Given the description of an element on the screen output the (x, y) to click on. 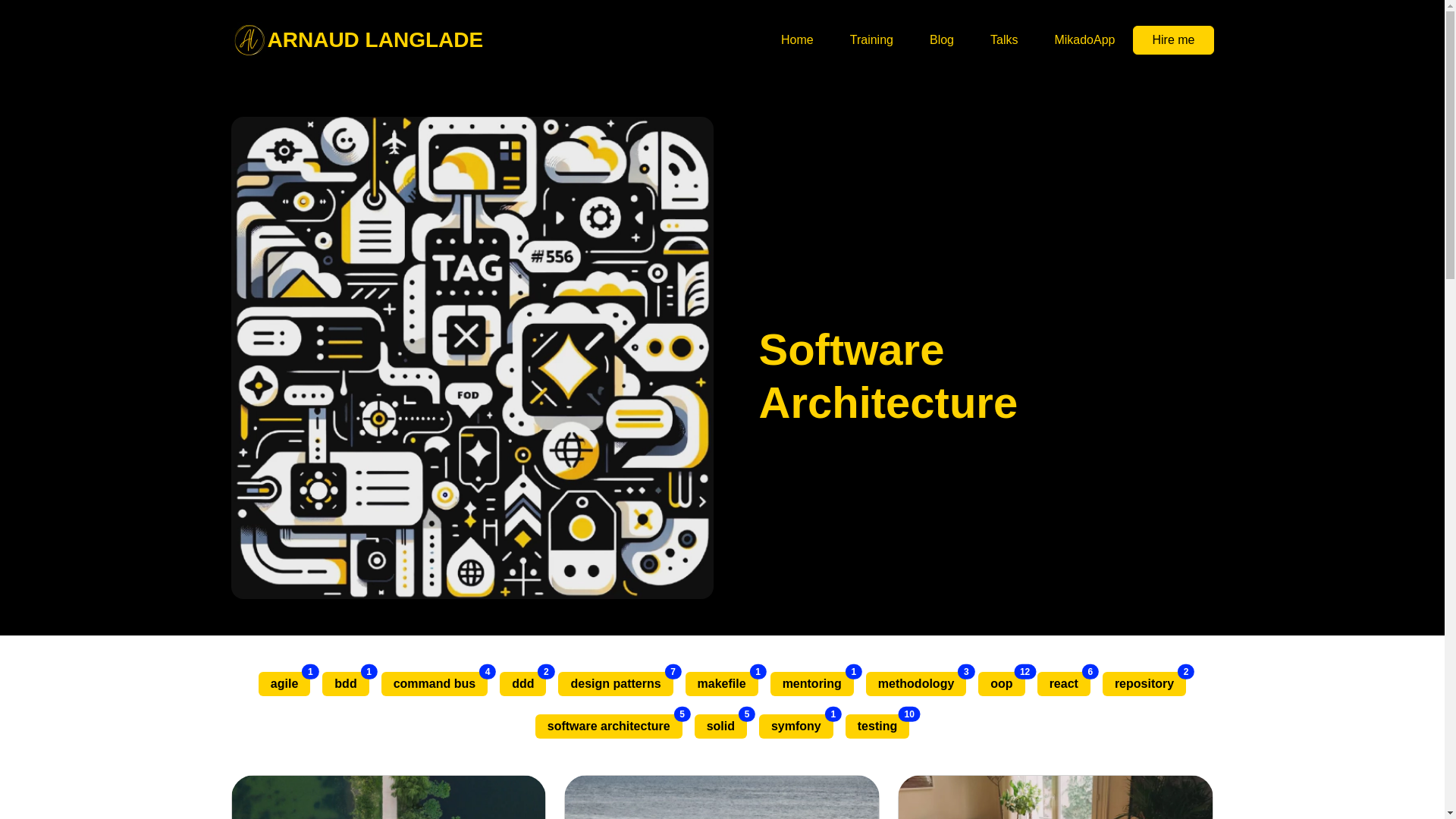
MikadoApp (721, 683)
Talks (344, 683)
Home (1083, 40)
Blog (795, 726)
Hire me (1003, 40)
